Given the description of an element on the screen output the (x, y) to click on. 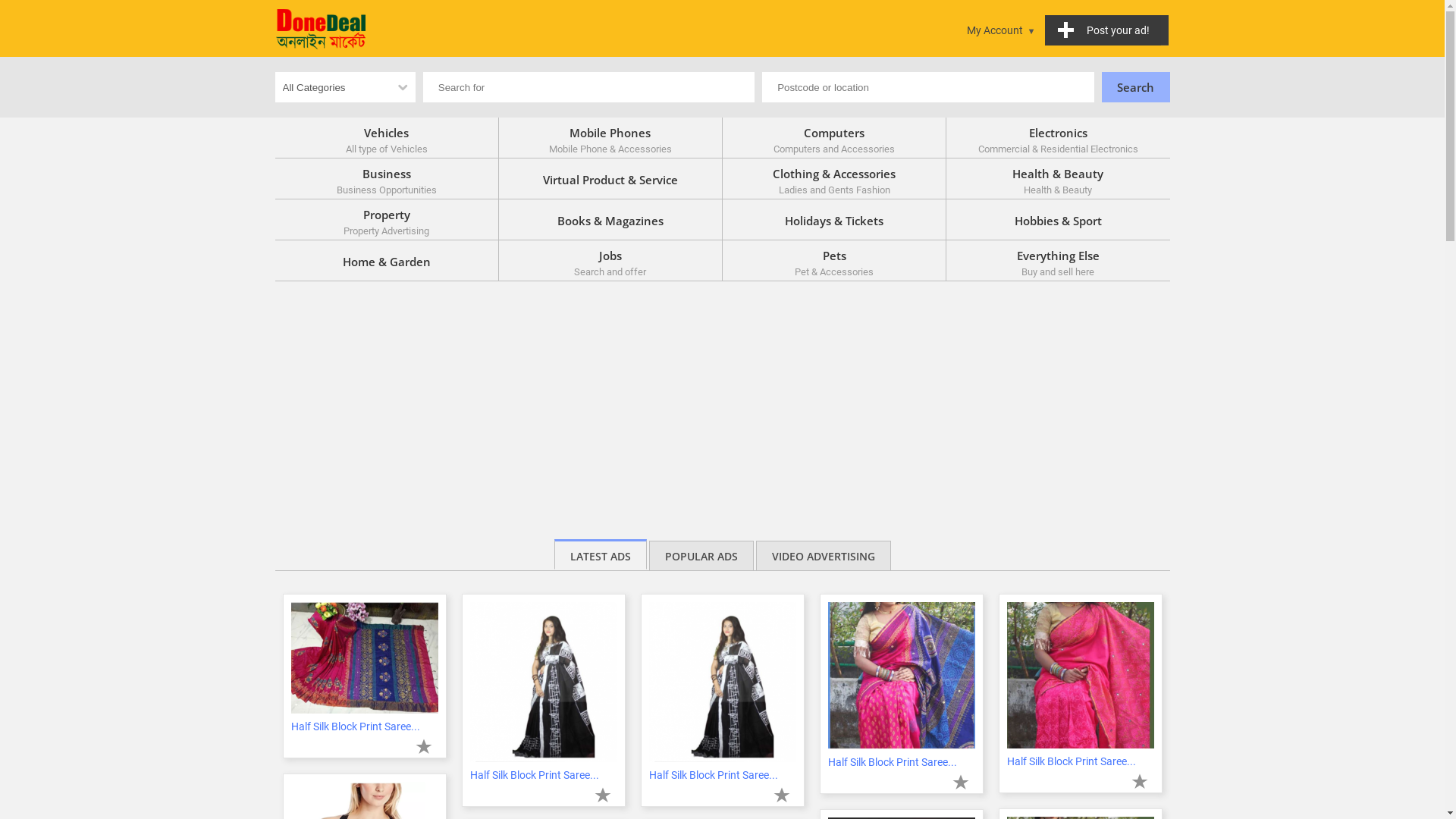
Clothing & Accessories
Ladies and Gents Fashion Element type: text (834, 178)
Pets
Pet & Accessories Element type: text (834, 260)
Electronics
Commercial & Residential Electronics Element type: text (1057, 137)
Home & Garden Element type: text (386, 260)
Everything Else
Buy and sell here Element type: text (1057, 260)
Add to favorites Element type: hover (423, 745)
Vehicles
All type of Vehicles Element type: text (386, 137)
Property
Property Advertising Element type: text (386, 219)
Hobbies & Sport Element type: text (1057, 219)
Add to favorites Element type: hover (781, 794)
Add to favorites Element type: hover (1139, 780)
Add to favorites Element type: hover (960, 781)
Jobs
Search and offer Element type: text (610, 260)
Holidays & Tickets Element type: text (834, 219)
Computers
Computers and Accessories Element type: text (834, 137)
Virtual Product & Service Element type: text (610, 178)
Post your ad! Element type: text (1106, 30)
Books & Magazines Element type: text (610, 219)
Search Element type: text (1135, 87)
Health & Beauty
Health & Beauty Element type: text (1057, 178)
Business
Business Opportunities Element type: text (386, 178)
My Account Element type: text (1001, 30)
Add to favorites Element type: hover (602, 794)
Mobile Phones
Mobile Phone & Accessories Element type: text (610, 137)
Advertisement Element type: hover (721, 394)
